Given the description of an element on the screen output the (x, y) to click on. 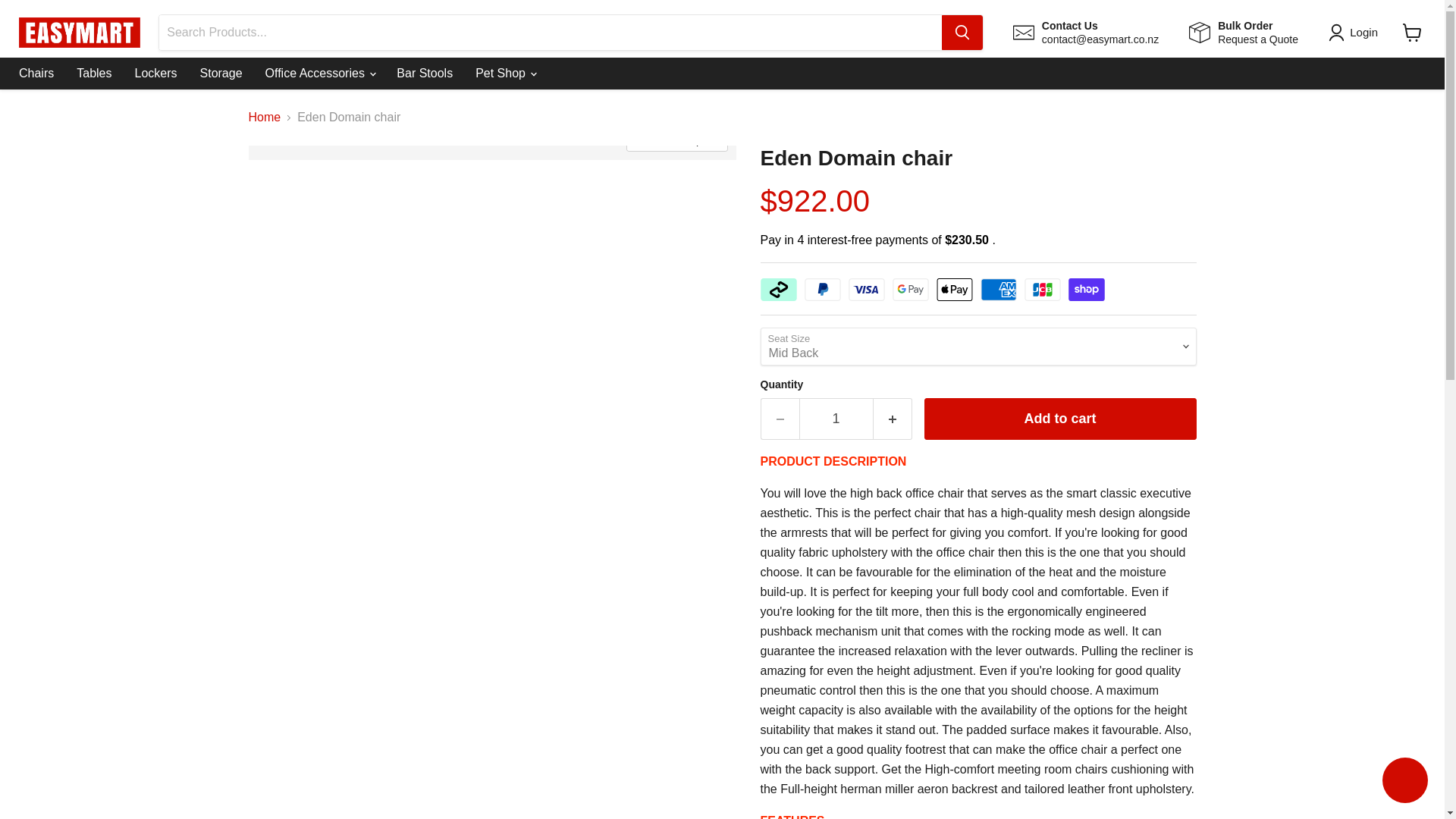
JCB (1041, 289)
View cart (1243, 31)
Afterpay (1411, 32)
Tables (778, 289)
Shopify online store chat (93, 73)
Visa (1404, 781)
Login (865, 289)
Apple Pay (1355, 32)
Chairs (954, 289)
